Given the description of an element on the screen output the (x, y) to click on. 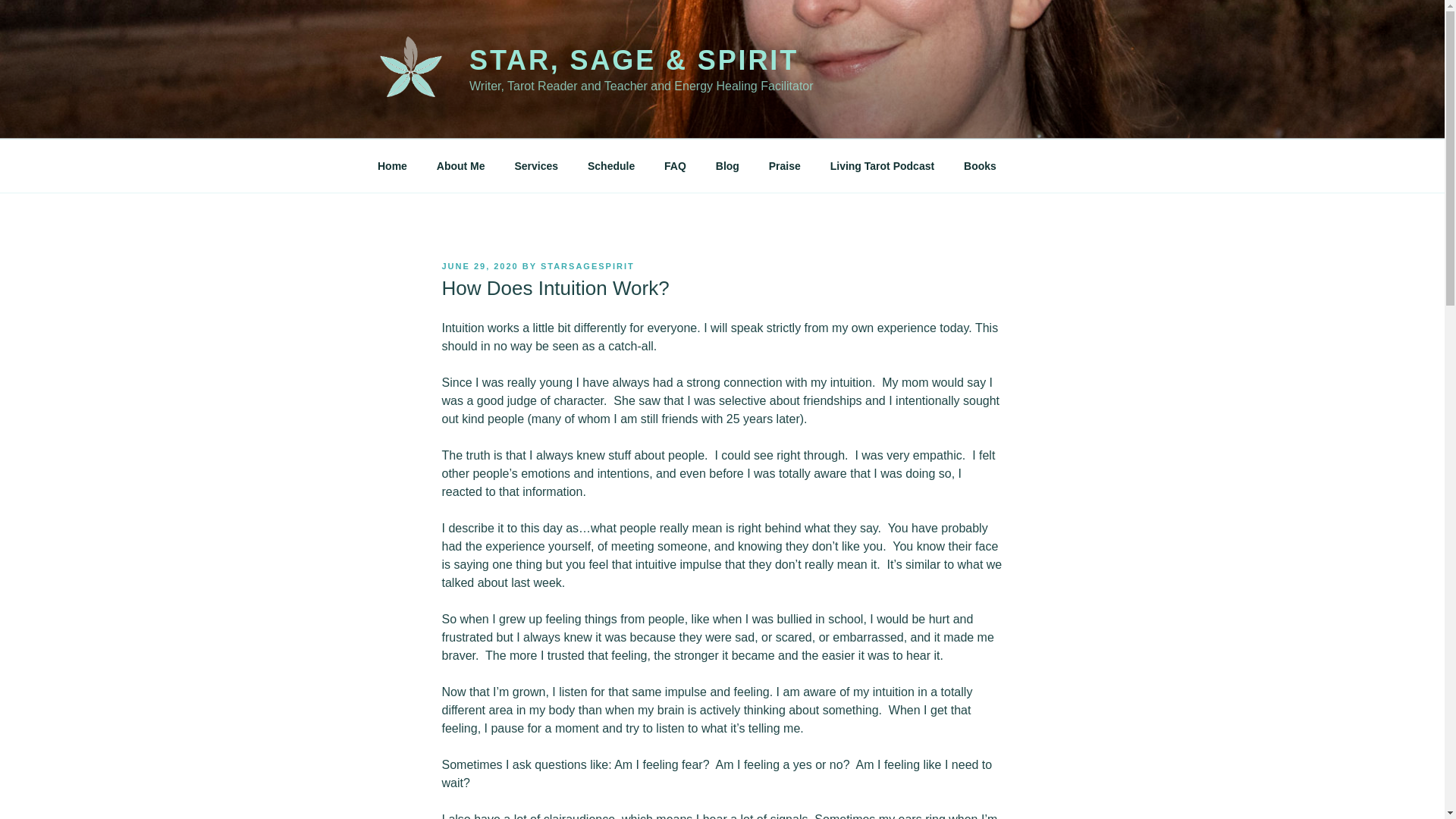
FAQ (675, 165)
Home (392, 165)
Services (536, 165)
Praise (784, 165)
Living Tarot Podcast (881, 165)
STARSAGESPIRIT (587, 266)
JUNE 29, 2020 (479, 266)
Schedule (610, 165)
Books (980, 165)
About Me (460, 165)
